Given the description of an element on the screen output the (x, y) to click on. 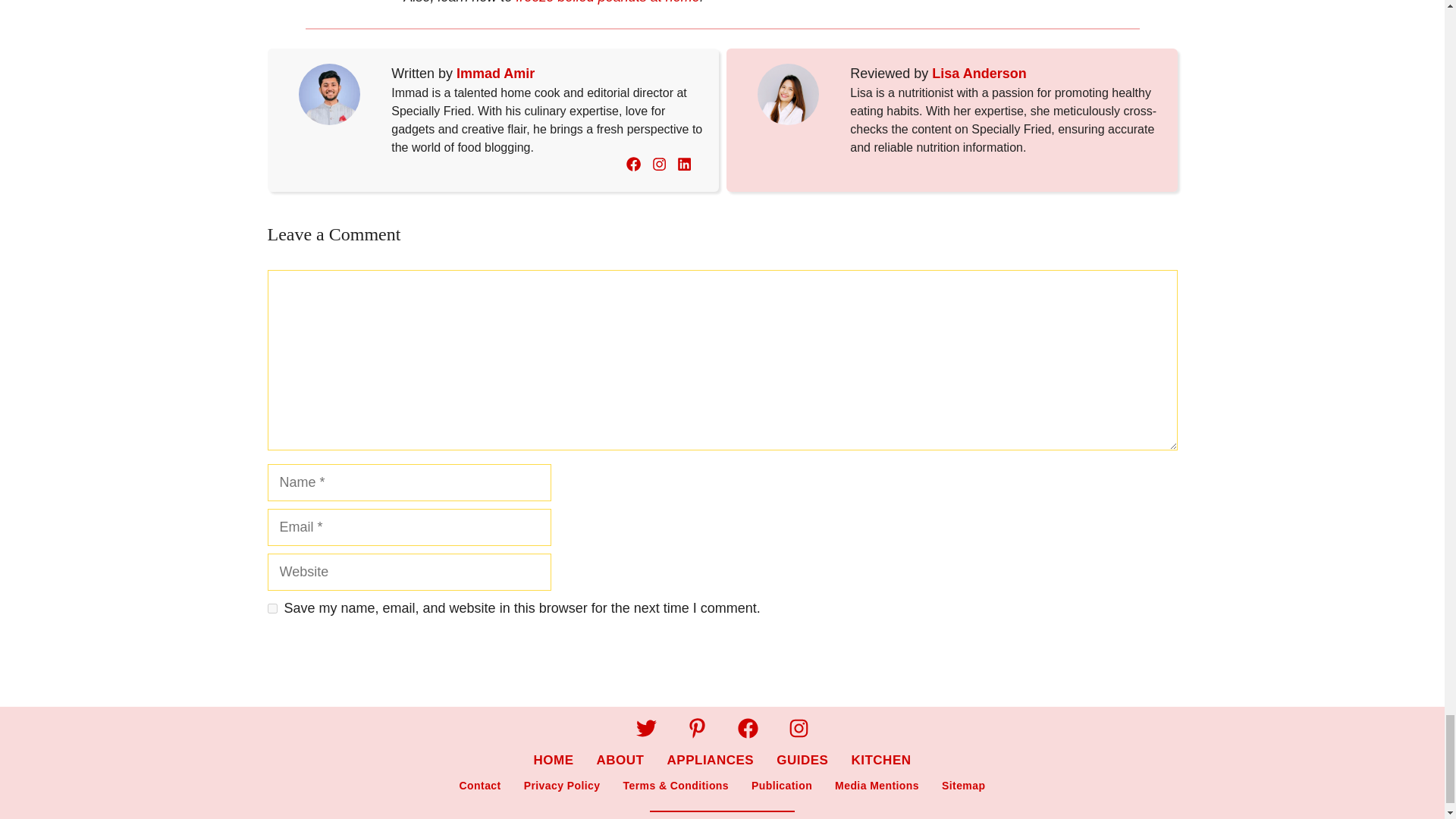
Immad Amir (495, 73)
freeze boiled peanuts at home (608, 2)
yes (271, 608)
Post Comment (327, 657)
